Given the description of an element on the screen output the (x, y) to click on. 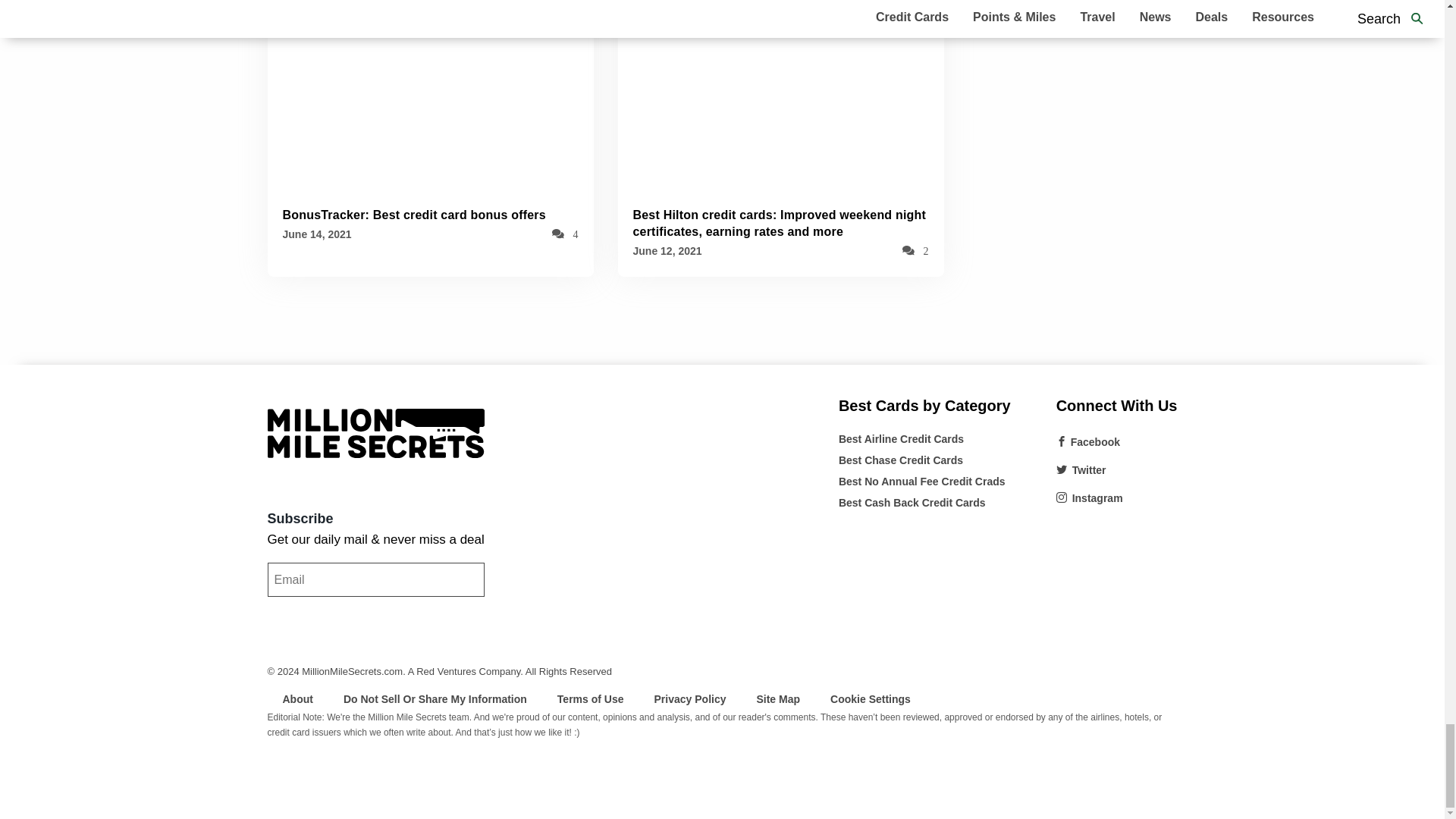
Go (285, 613)
mms-logo-2 (374, 432)
